Given the description of an element on the screen output the (x, y) to click on. 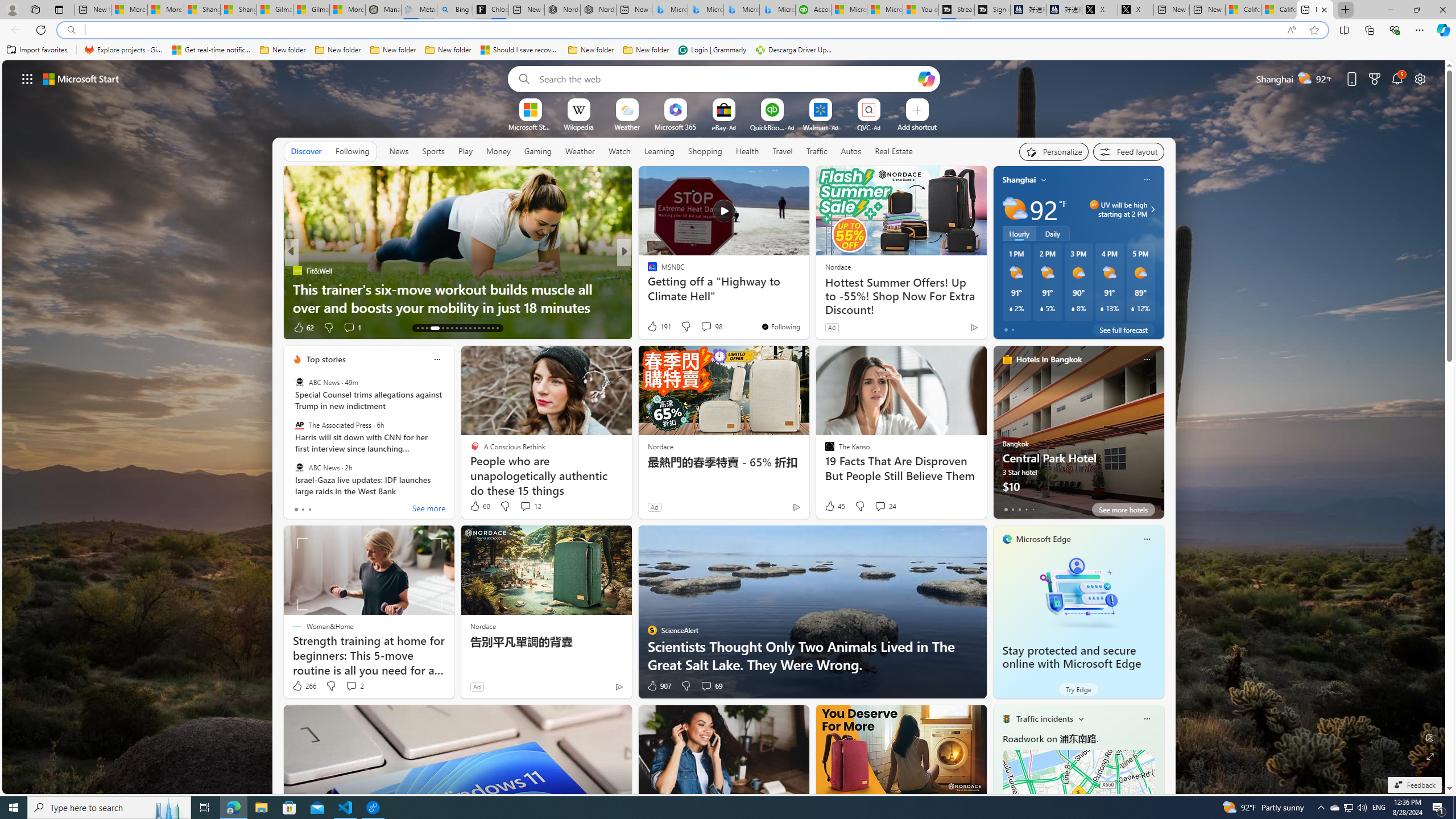
New folder (646, 49)
The Why Files (647, 270)
tab-3 (1025, 509)
Daily (1052, 233)
AutomationID: tab-23 (470, 328)
Class: control (27, 78)
UV will be high starting at 2 PM (1150, 208)
